Given the description of an element on the screen output the (x, y) to click on. 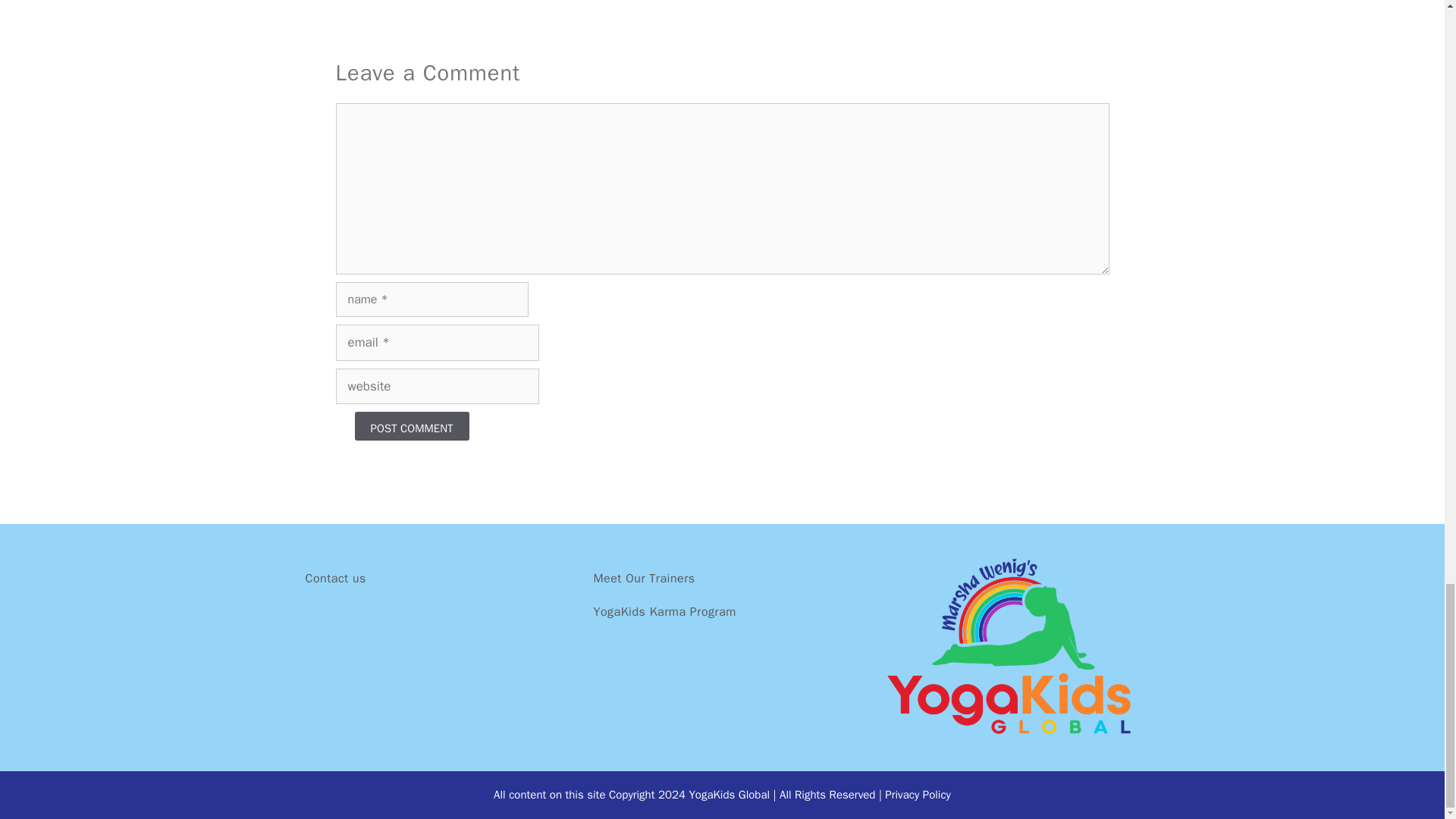
YogaKids Karma Program (663, 611)
Meet Our Trainers (643, 578)
Post Comment (411, 425)
Contact us (334, 578)
Privacy Policy (917, 794)
Post Comment (411, 425)
